Given the description of an element on the screen output the (x, y) to click on. 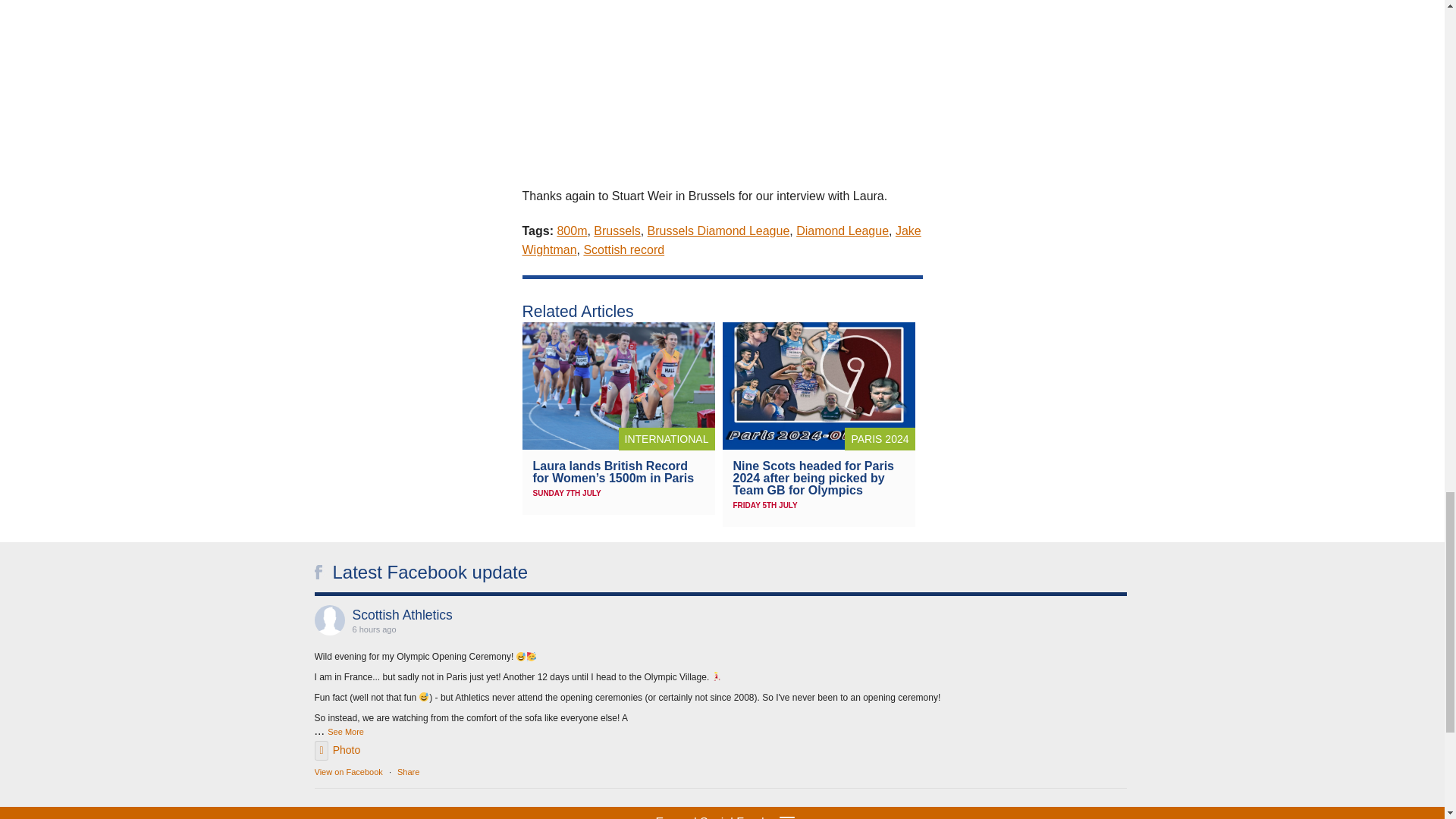
Brussels (617, 230)
Diamond League (842, 230)
Share (408, 771)
800m (571, 230)
Scottish record (623, 249)
Brussels Diamond League (718, 230)
Jake Wightman (720, 240)
Laura Muir on her 1500m run at Brussels Diamond League 2022 (721, 83)
View on Facebook (347, 771)
